Given the description of an element on the screen output the (x, y) to click on. 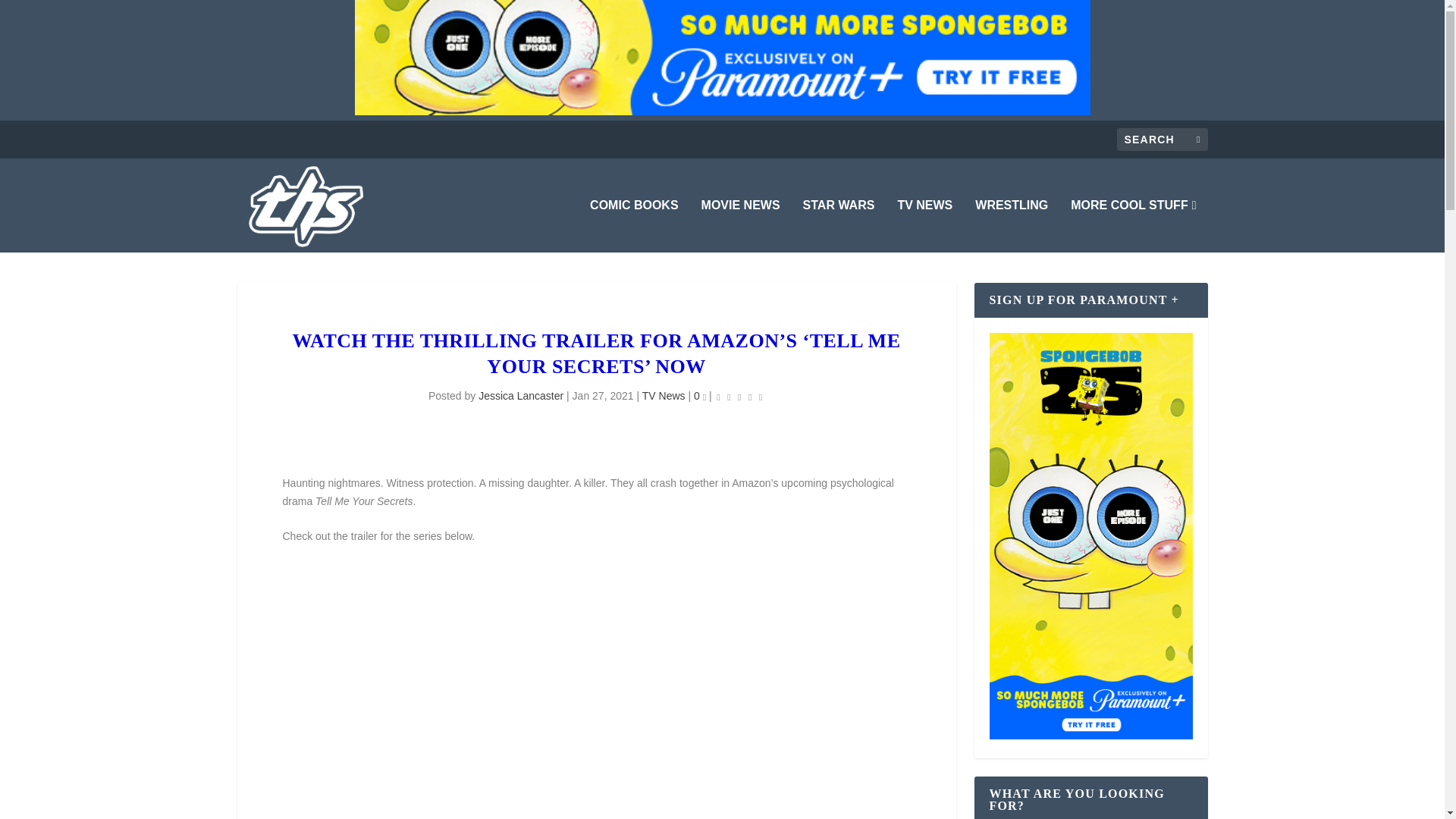
MOVIE NEWS (740, 225)
WRESTLING (1011, 225)
0 (700, 395)
Rating: 0.00 (739, 396)
COMIC BOOKS (633, 225)
Search for: (1161, 138)
Posts by Jessica Lancaster (521, 395)
TV NEWS (924, 225)
TV News (663, 395)
STAR WARS (839, 225)
MORE COOL STUFF (1132, 225)
Jessica Lancaster (521, 395)
comment count (704, 397)
